Given the description of an element on the screen output the (x, y) to click on. 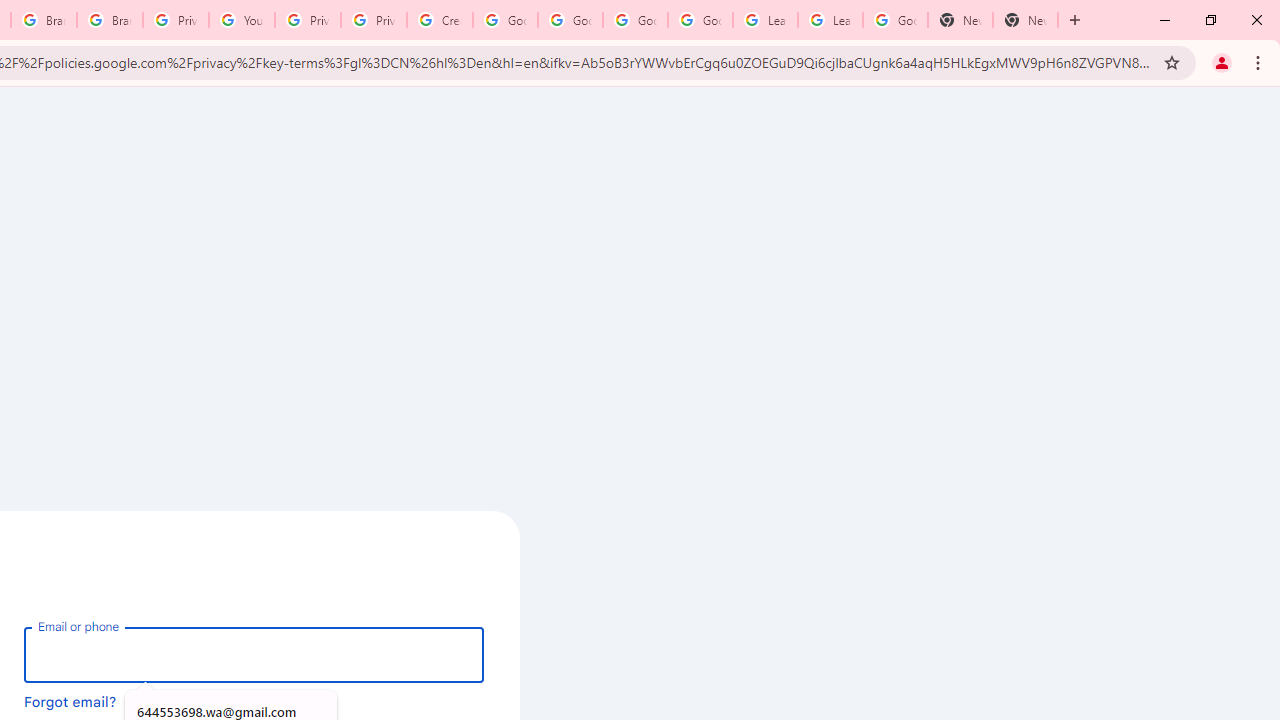
Brand Resource Center (109, 20)
YouTube (241, 20)
New Tab (960, 20)
Google Account Help (569, 20)
Forgot email? (70, 701)
Minimize (1165, 20)
You (1221, 62)
Brand Resource Center (43, 20)
Close (1256, 20)
